Given the description of an element on the screen output the (x, y) to click on. 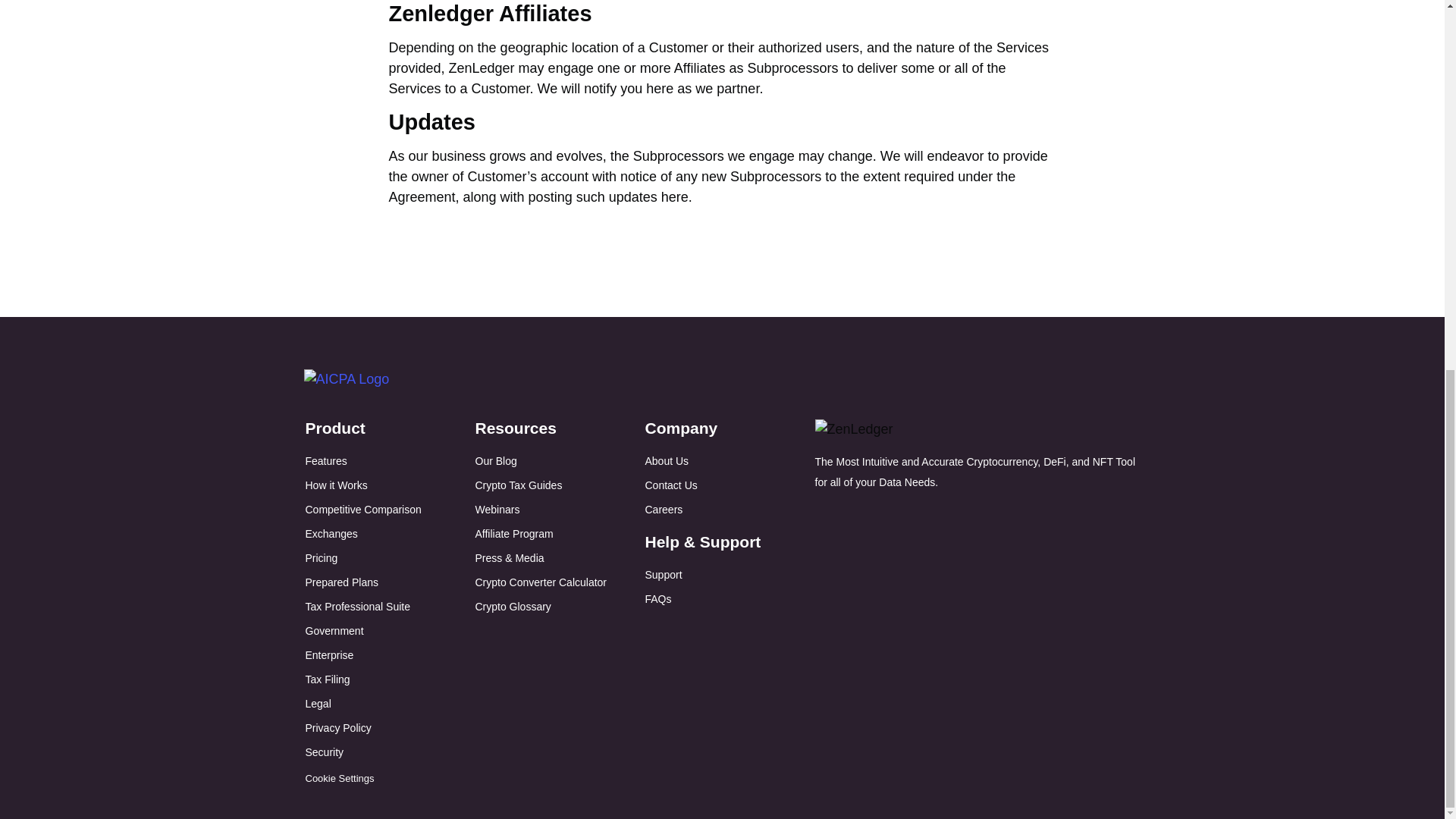
aicpa-small (345, 379)
Features (325, 460)
Competitive Comparison (362, 509)
Enterprise (328, 654)
ZL small logo (852, 429)
Tax Filing (326, 679)
Government (333, 630)
Exchanges (330, 533)
How it Works (335, 485)
Tax Professional Suite (357, 606)
